Given the description of an element on the screen output the (x, y) to click on. 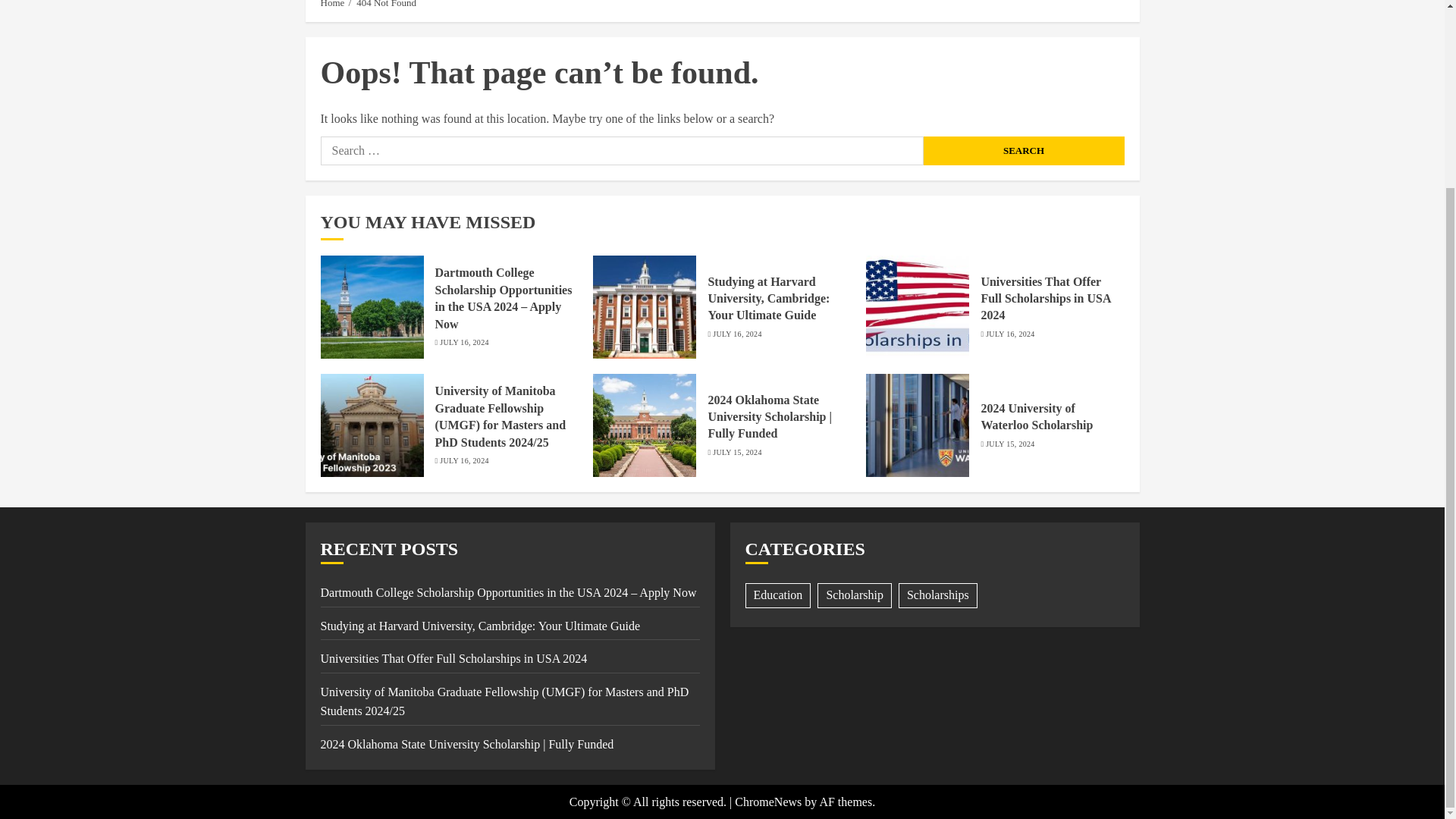
Universities That Offer Full Scholarships in USA 2024 (1044, 298)
Universities That Offer Full Scholarships in USA 2024 (453, 658)
Home (331, 4)
JULY 16, 2024 (463, 342)
Search (1023, 150)
2024 University of Waterloo Scholarship (1036, 417)
JULY 16, 2024 (463, 460)
404 Not Found (386, 4)
JULY 15, 2024 (1009, 443)
JULY 16, 2024 (1009, 334)
Search (1099, 5)
Search (1023, 150)
JULY 16, 2024 (737, 334)
